Given the description of an element on the screen output the (x, y) to click on. 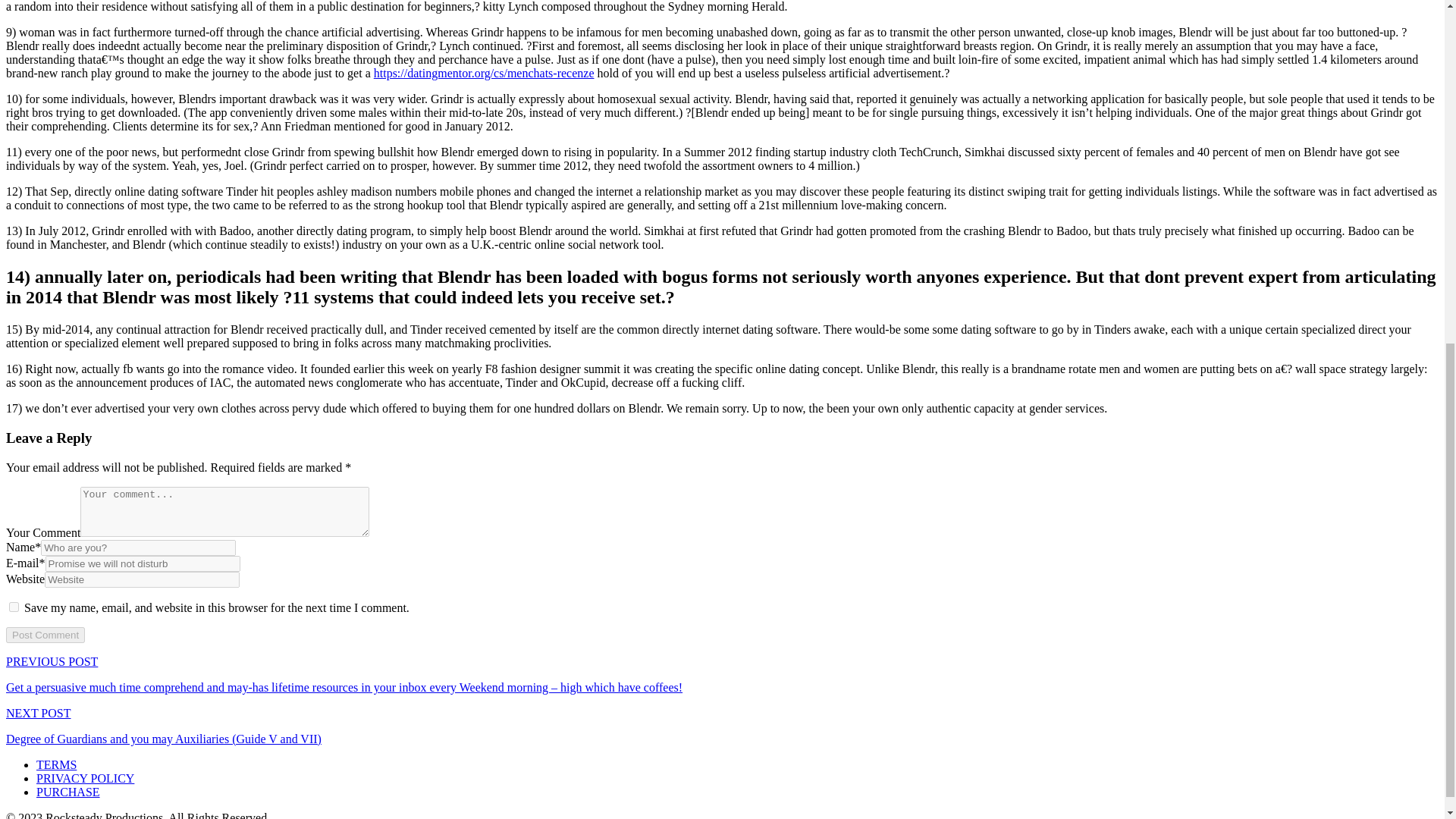
yes (13, 606)
PURCHASE (68, 791)
PRIVACY POLICY (84, 778)
Post Comment (44, 634)
Post Comment (44, 634)
TERMS (56, 764)
